Given the description of an element on the screen output the (x, y) to click on. 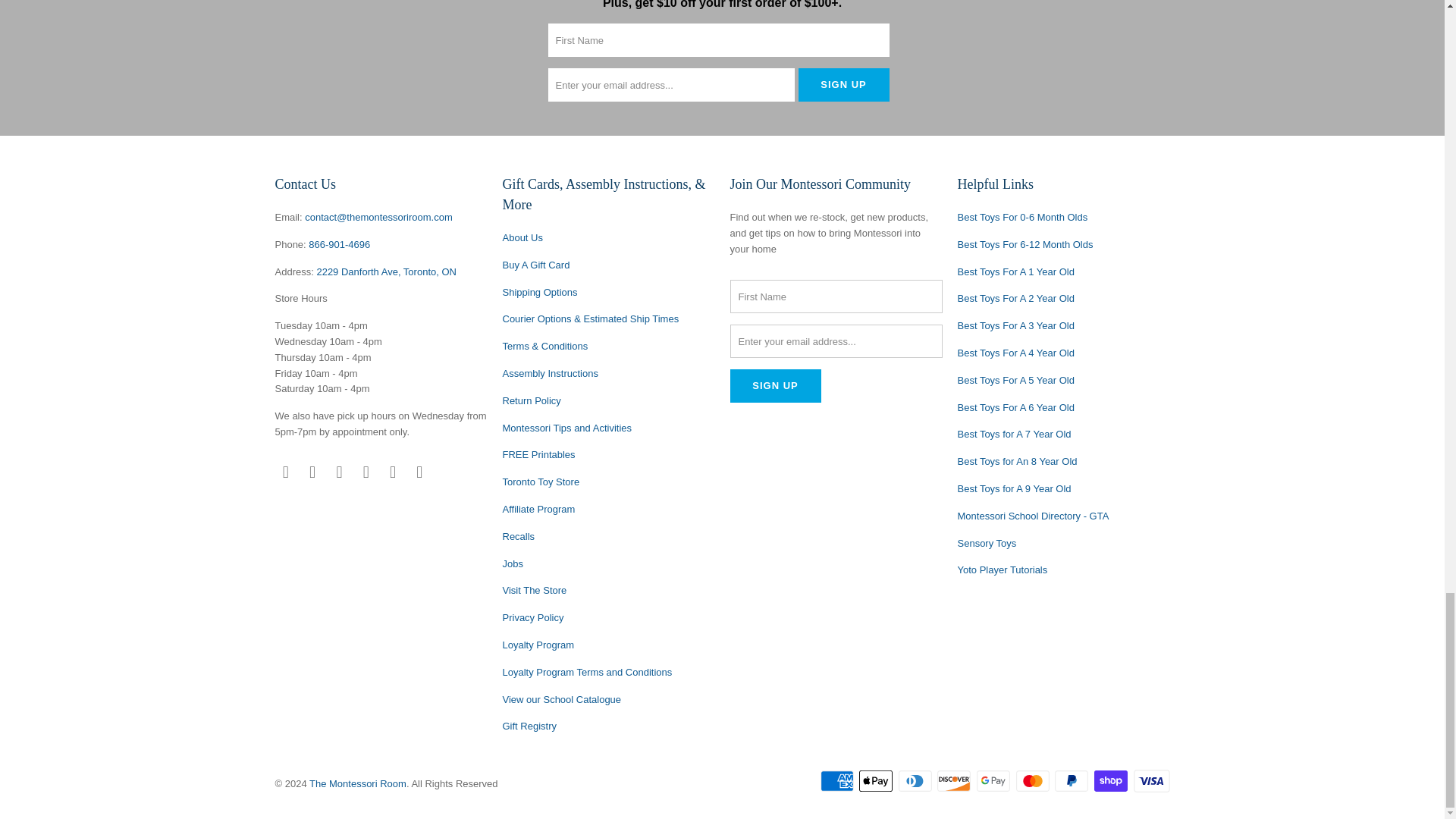
Discover (955, 780)
Visa (1150, 780)
Sign Up (842, 84)
Shop Pay (1112, 780)
Google Pay (994, 780)
Apple Pay (877, 780)
PayPal (1072, 780)
Sign Up (775, 385)
Mastercard (1034, 780)
tel:8669014696 (338, 244)
